Given the description of an element on the screen output the (x, y) to click on. 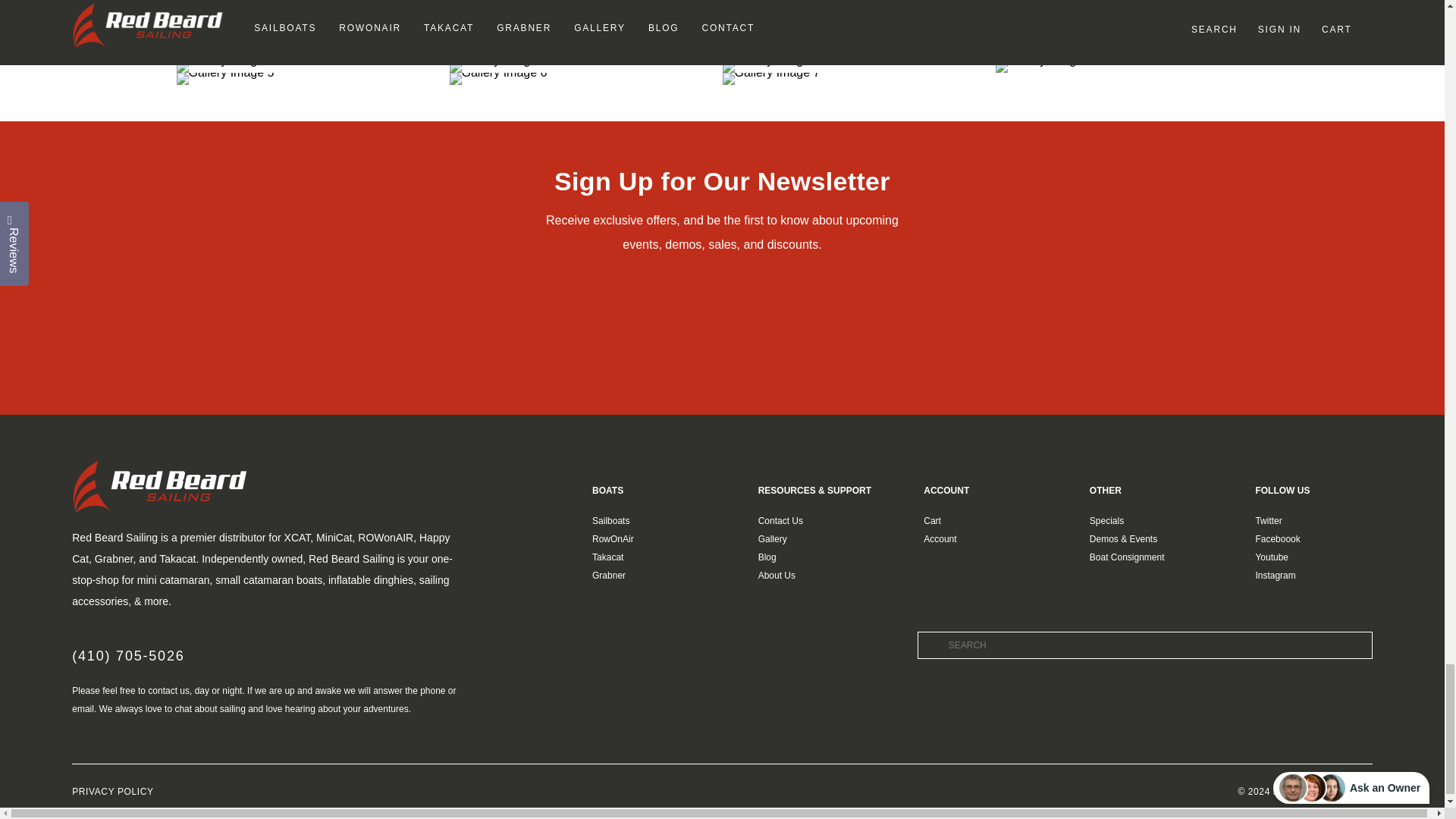
Form 0 (721, 319)
